Given the description of an element on the screen output the (x, y) to click on. 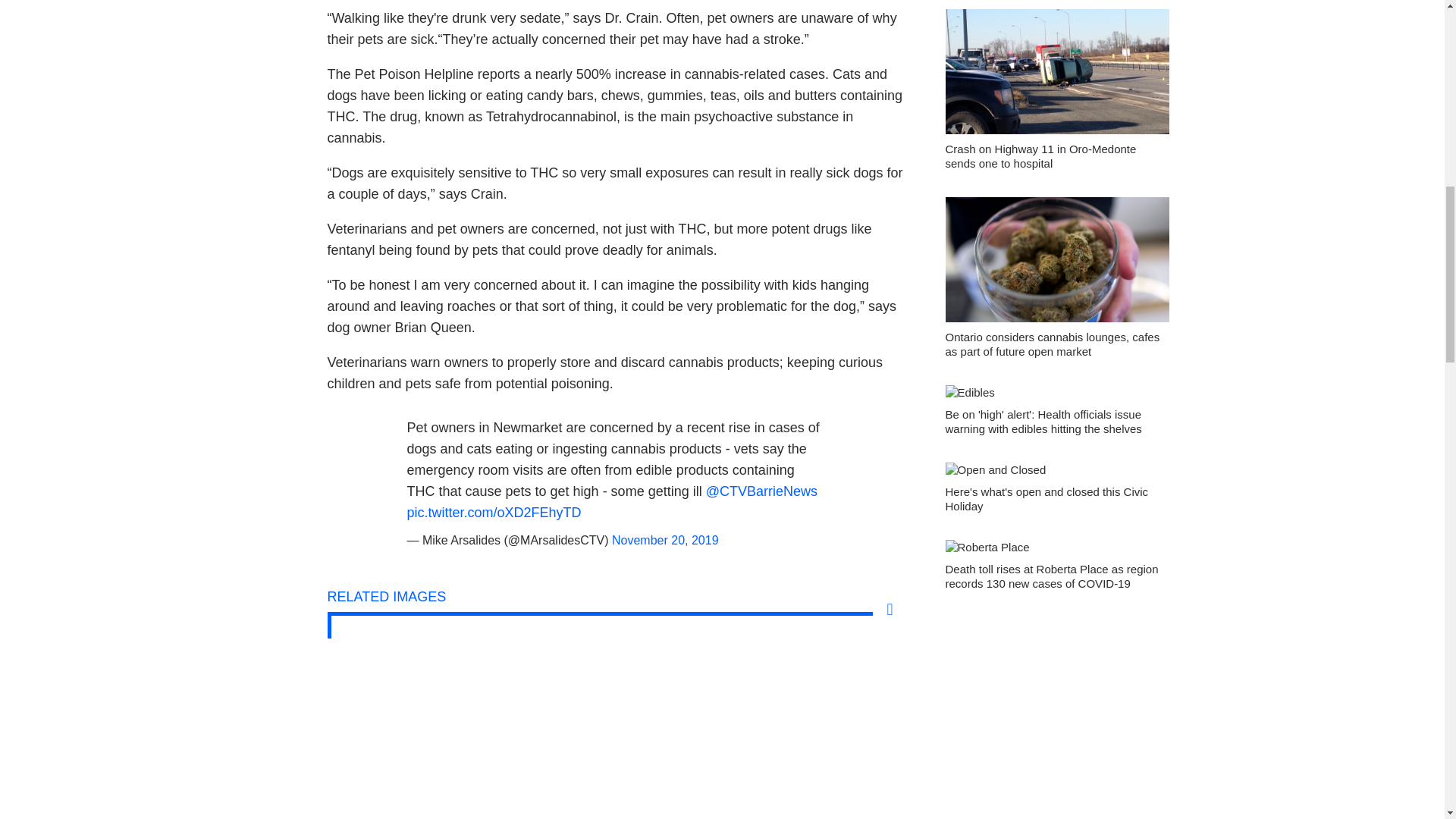
November 20, 2019 (665, 540)
